Given the description of an element on the screen output the (x, y) to click on. 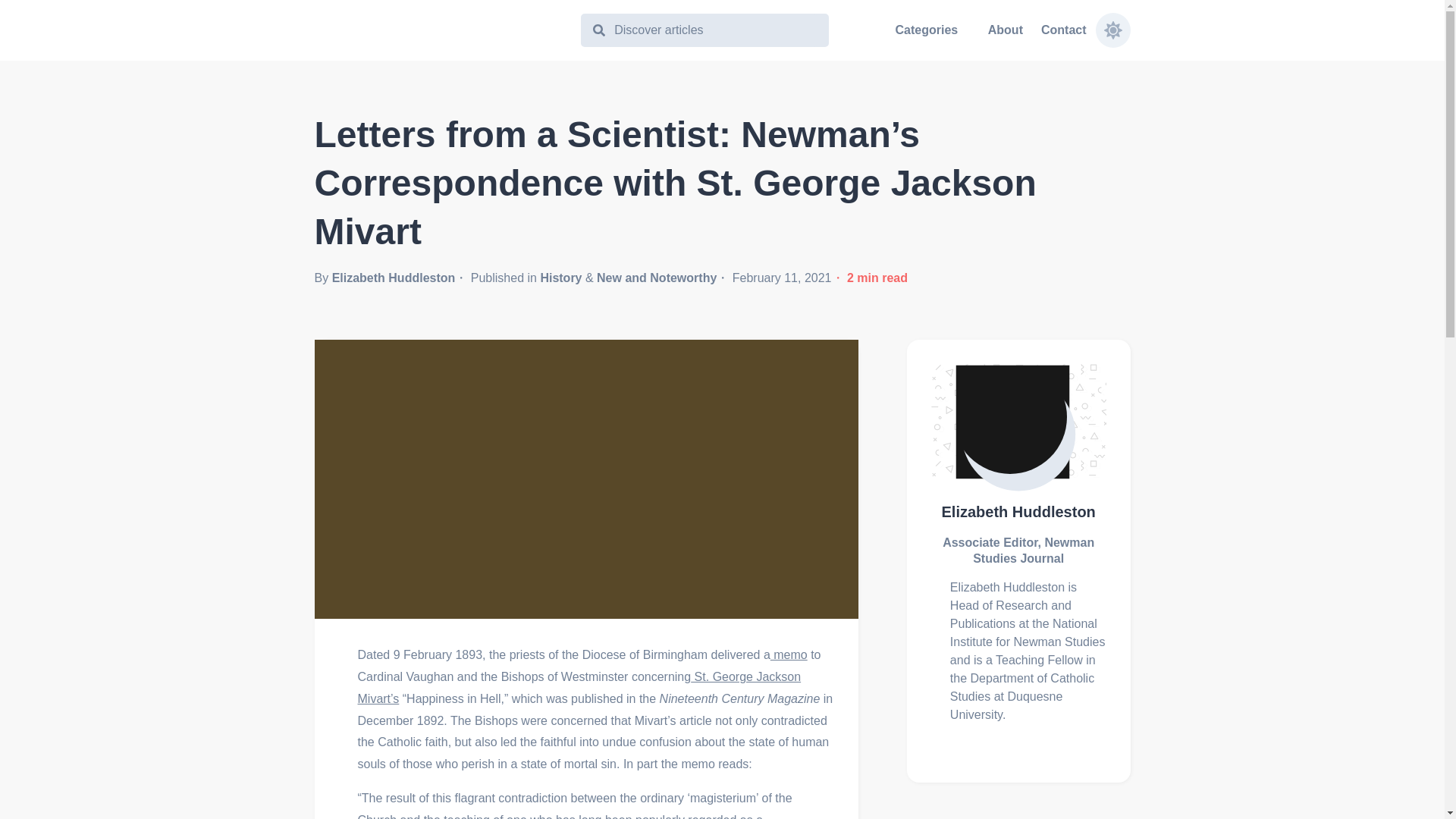
Elizabeth Huddleston (393, 277)
History (560, 277)
memo (789, 654)
Elizabeth Huddleston (1018, 512)
Categories (925, 30)
Contact (1063, 30)
New and Noteworthy (656, 277)
About (1005, 30)
